Given the description of an element on the screen output the (x, y) to click on. 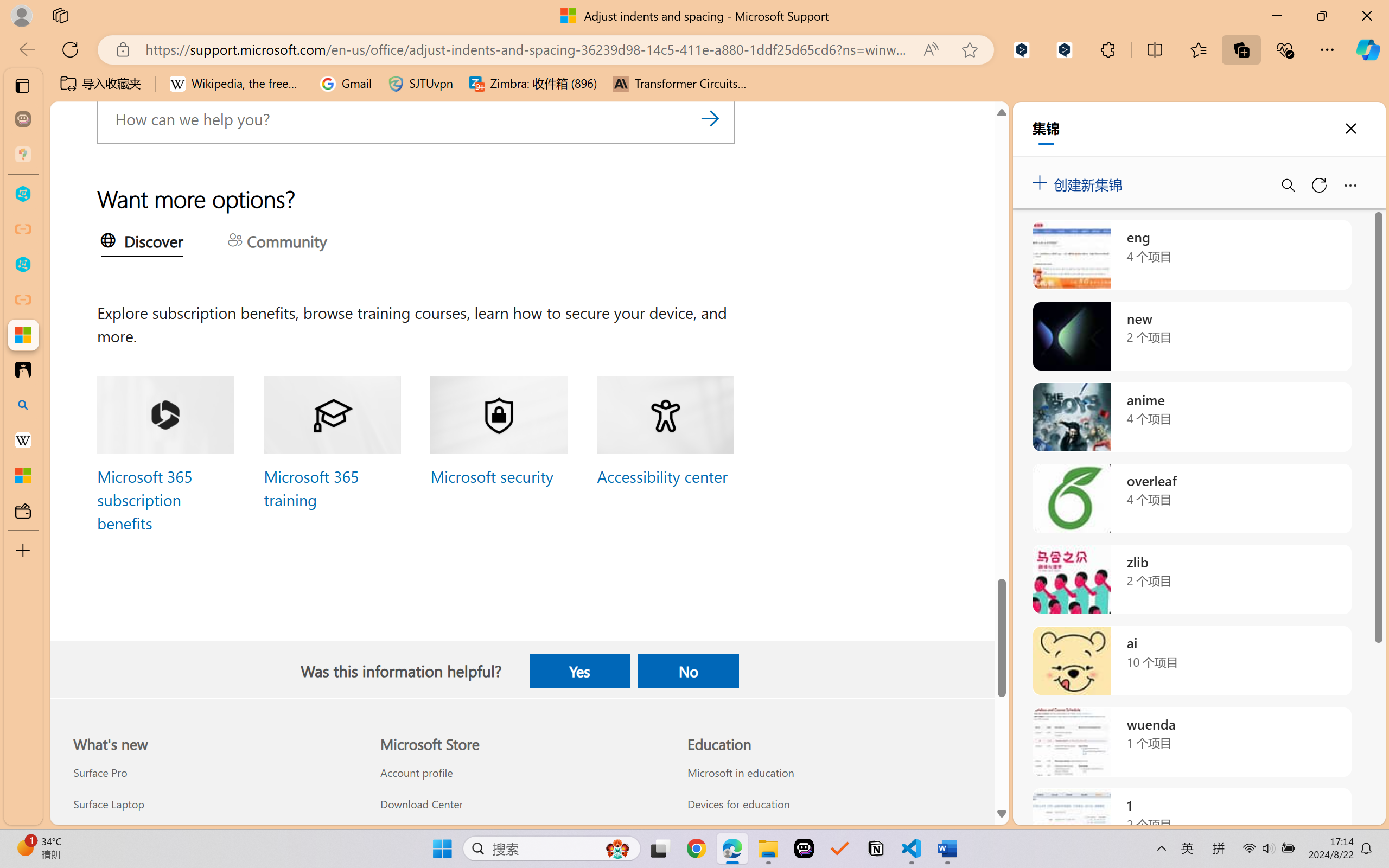
Gmail (345, 83)
Adjust indents and spacing - Microsoft Support (22, 334)
Search (709, 118)
Surface Laptop What's new (108, 803)
Transformer Circuits Thread (680, 83)
Microsoft security (490, 475)
Copilot (Ctrl+Shift+.) (1368, 49)
SJTUvpn (419, 83)
Microsoft 365 subscription benefits (144, 499)
